Given the description of an element on the screen output the (x, y) to click on. 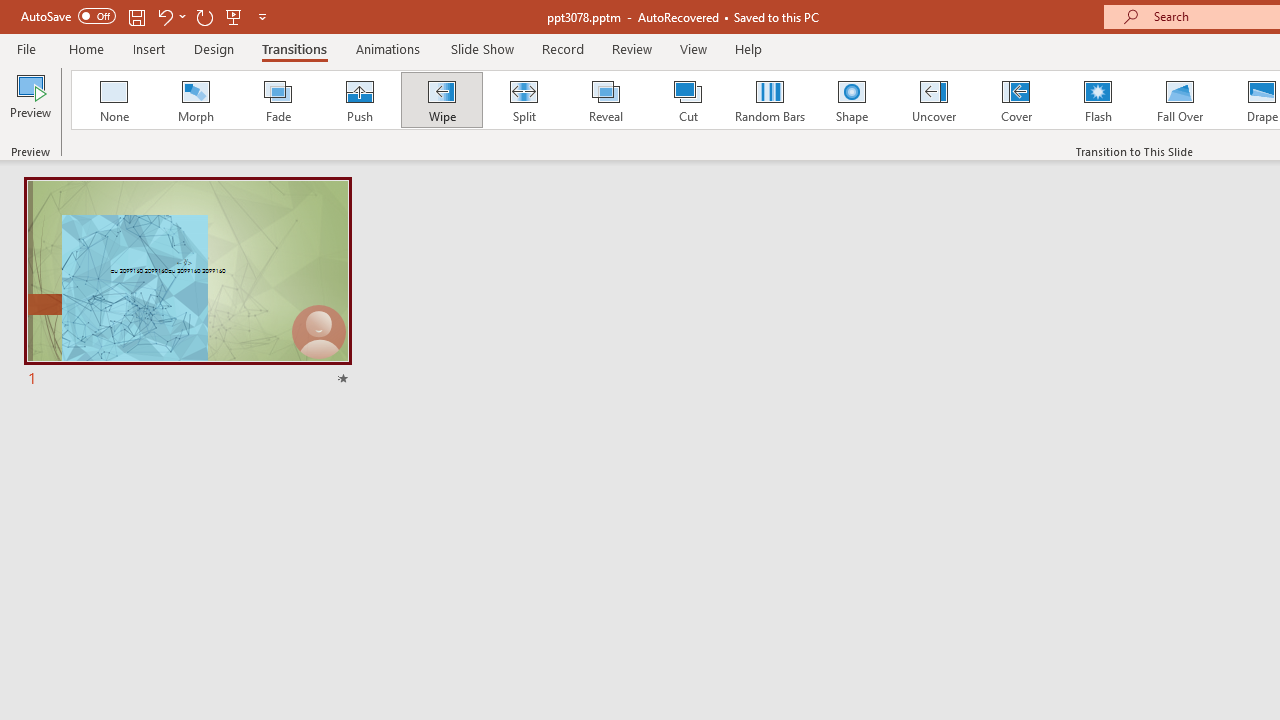
Push (359, 100)
